Given the description of an element on the screen output the (x, y) to click on. 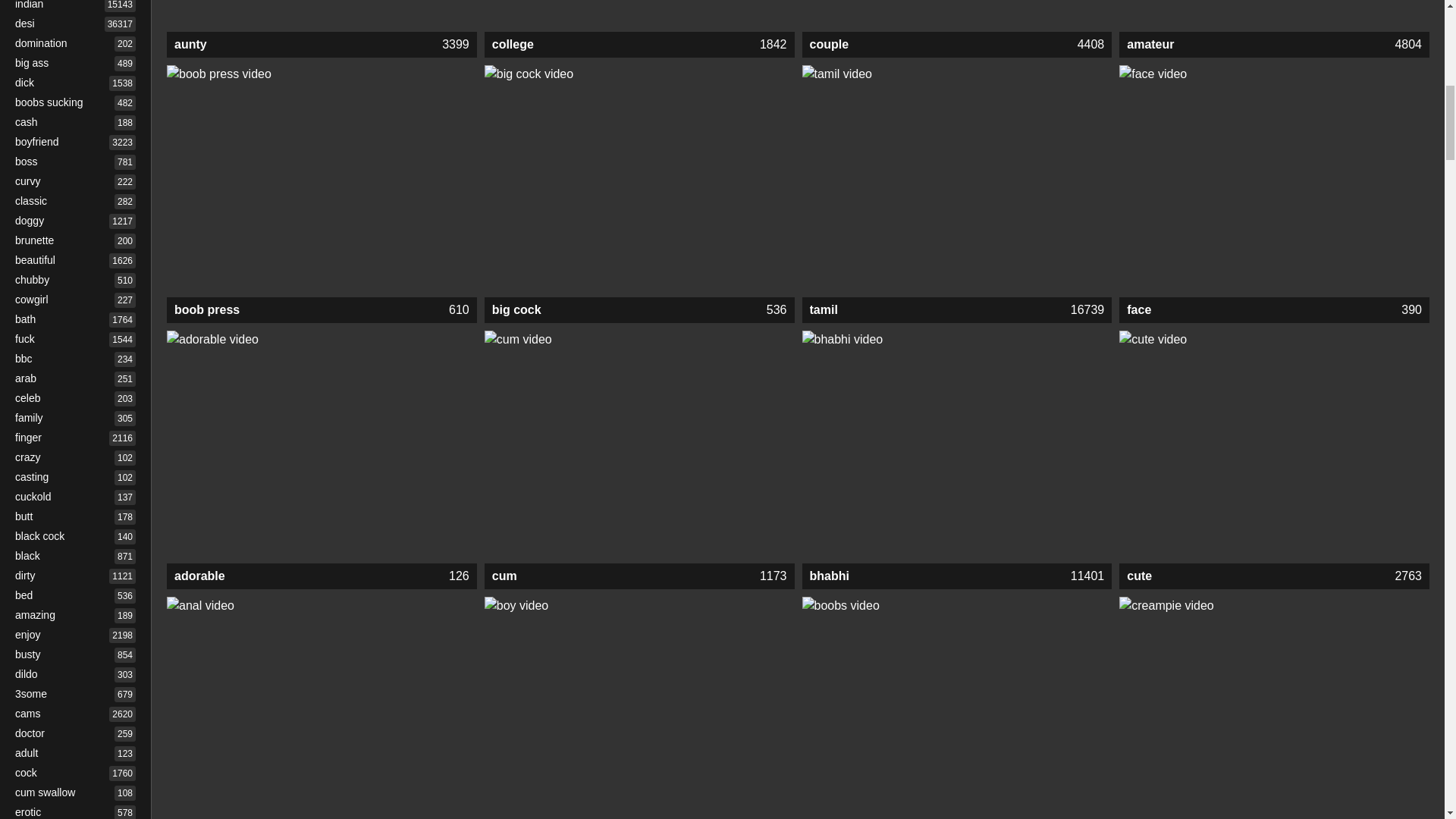
college (639, 44)
aunty (322, 15)
college (639, 15)
aunty (322, 44)
